Given the description of an element on the screen output the (x, y) to click on. 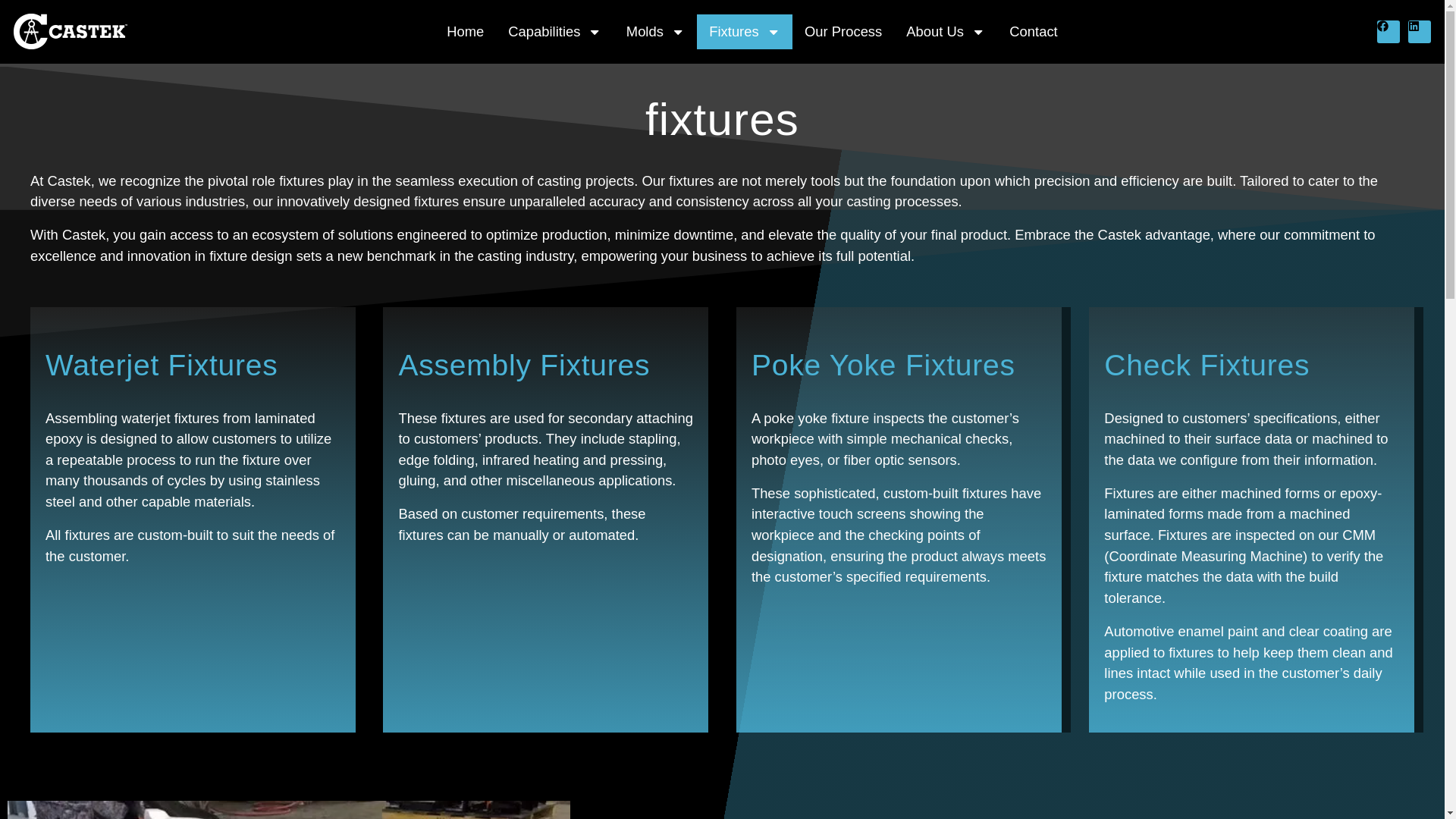
Capabilities (554, 31)
Molds (655, 31)
Fixtures (744, 31)
Contact (1032, 31)
About Us (945, 31)
Home (464, 31)
LOGO (70, 31)
Our Process (842, 31)
